Given the description of an element on the screen output the (x, y) to click on. 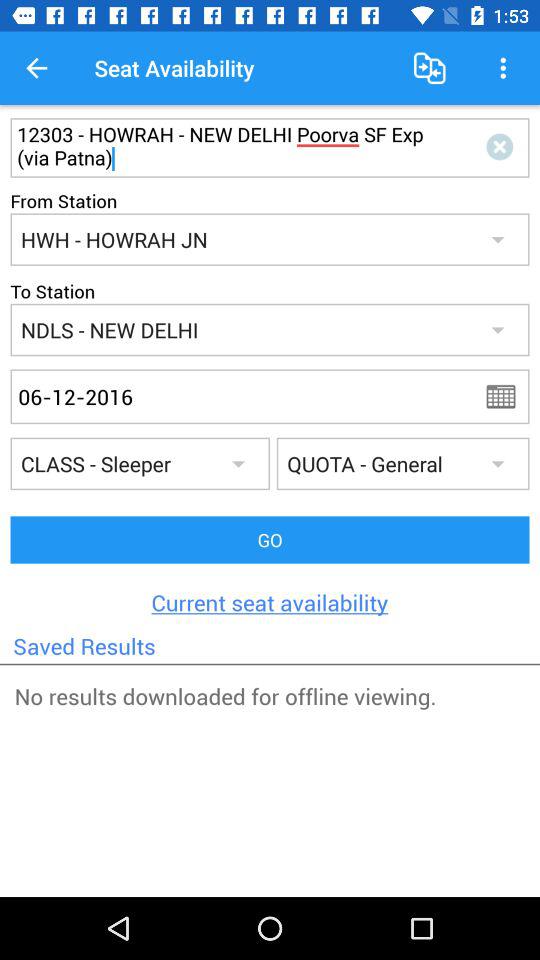
press icon below class - sleeper (269, 539)
